Given the description of an element on the screen output the (x, y) to click on. 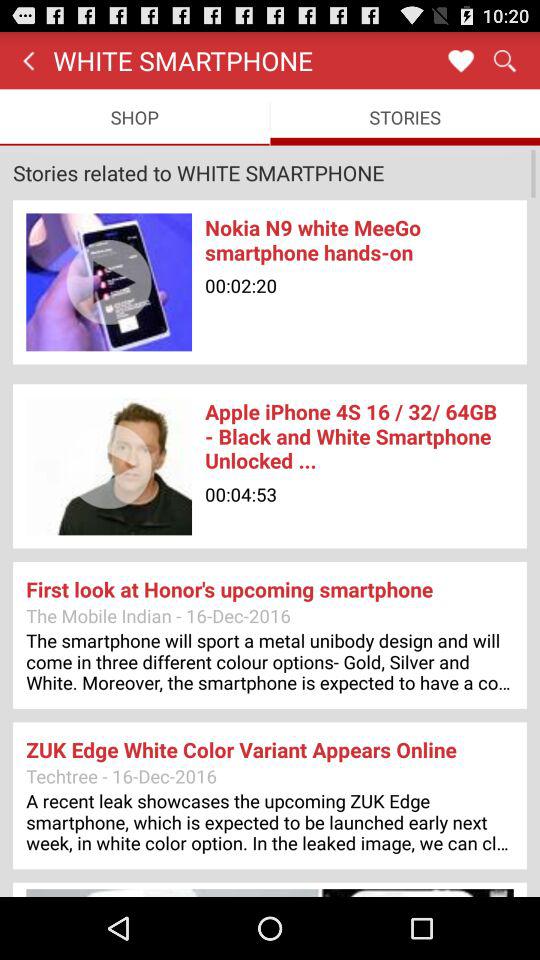
launch the item to the right of white smartphone (460, 60)
